Given the description of an element on the screen output the (x, y) to click on. 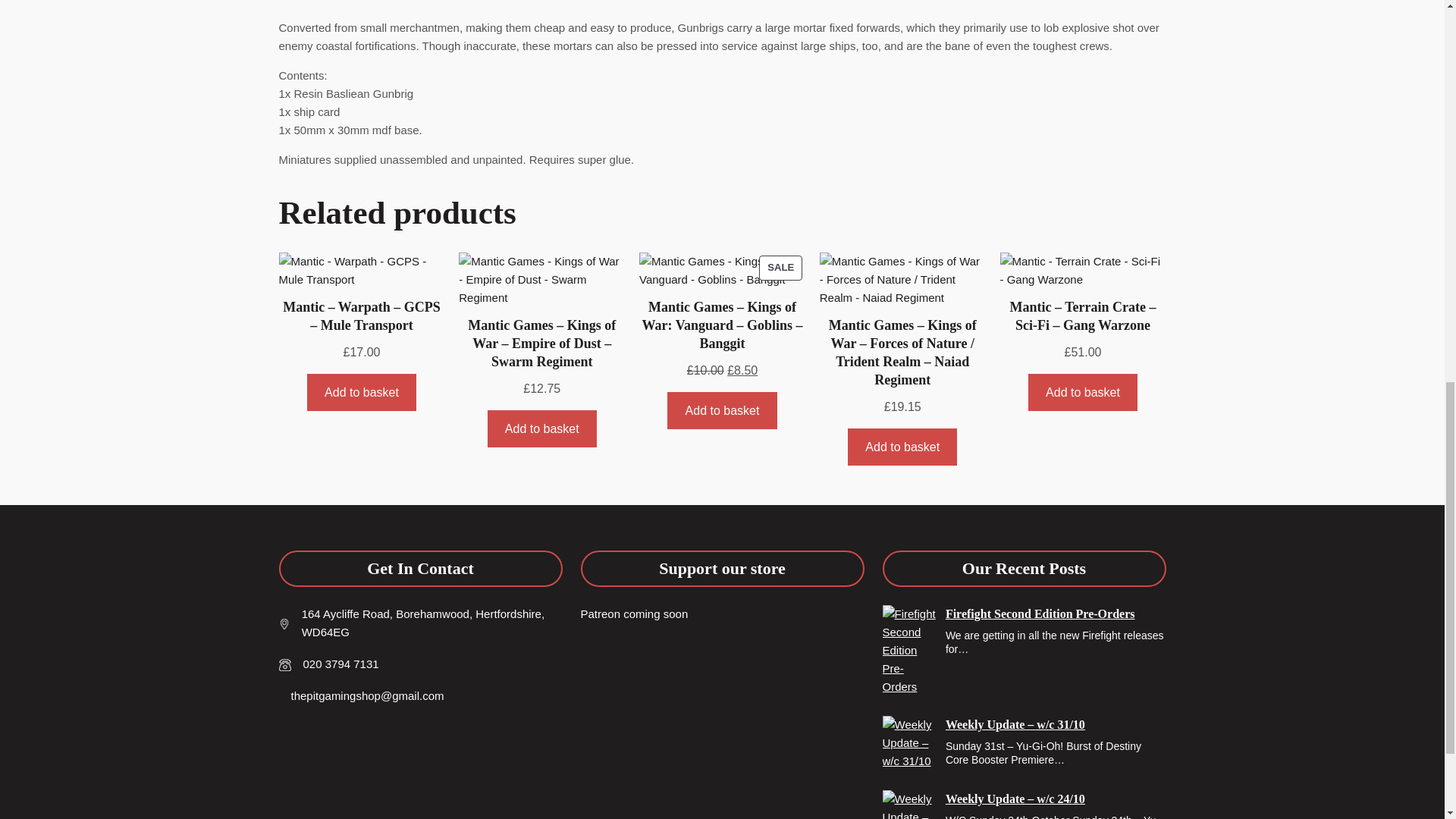
Add to basket (721, 410)
Add to basket (541, 428)
Add to basket (722, 269)
Add to basket (361, 392)
